Given the description of an element on the screen output the (x, y) to click on. 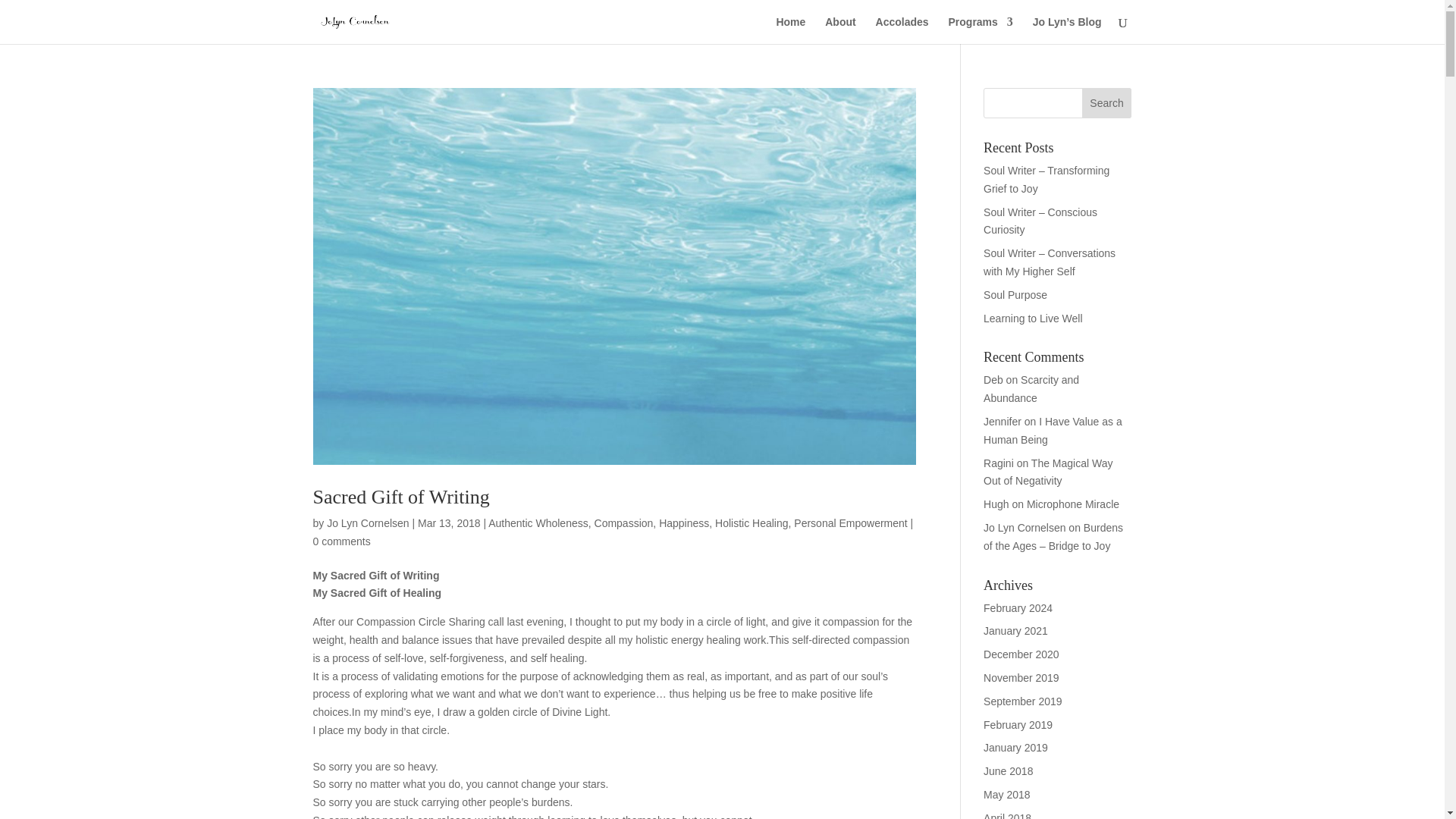
Personal Empowerment (850, 522)
Sacred Gift of Writing (401, 496)
Programs (979, 30)
Accolades (902, 30)
Compassion (623, 522)
Holistic Healing (750, 522)
Home (790, 30)
Happiness (684, 522)
Search (1106, 102)
About (840, 30)
Posts by Jo Lyn Cornelsen (367, 522)
0 comments (341, 541)
Authentic Wholeness (537, 522)
Jo Lyn Cornelsen (367, 522)
